Given the description of an element on the screen output the (x, y) to click on. 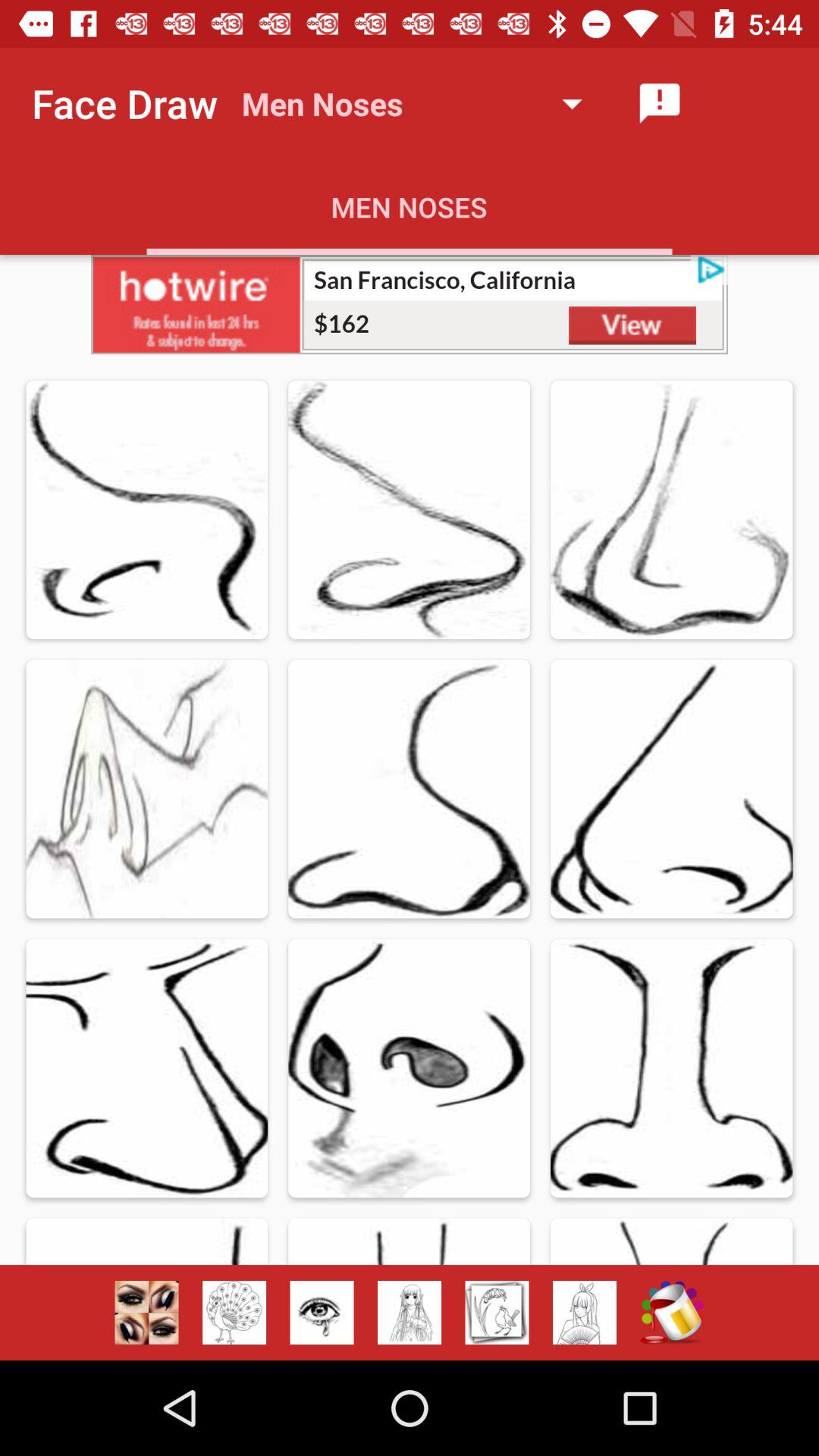
ice button (321, 1312)
